Given the description of an element on the screen output the (x, y) to click on. 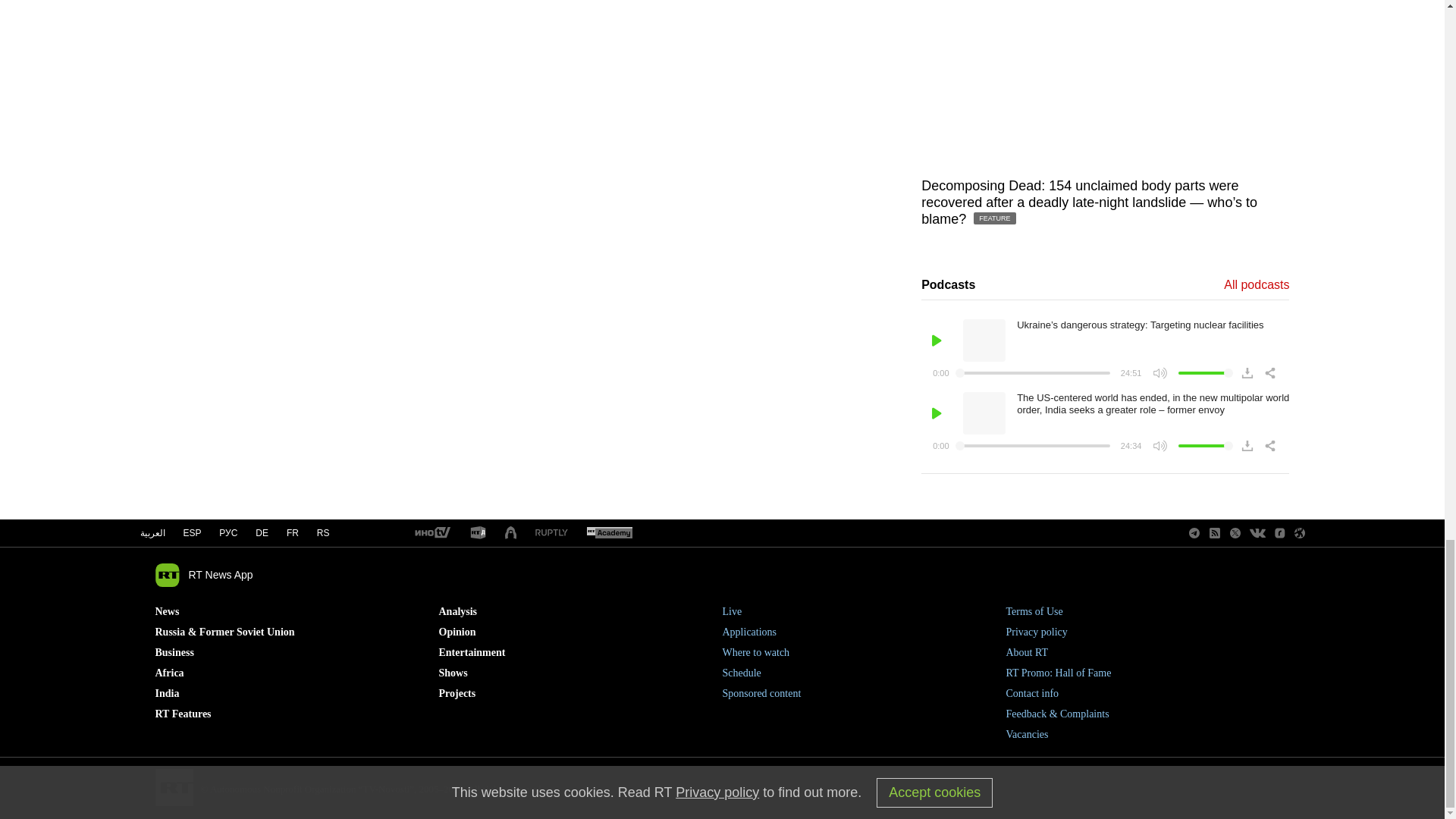
RT  (551, 533)
RT  (431, 533)
RT  (478, 533)
RT  (608, 533)
